Given the description of an element on the screen output the (x, y) to click on. 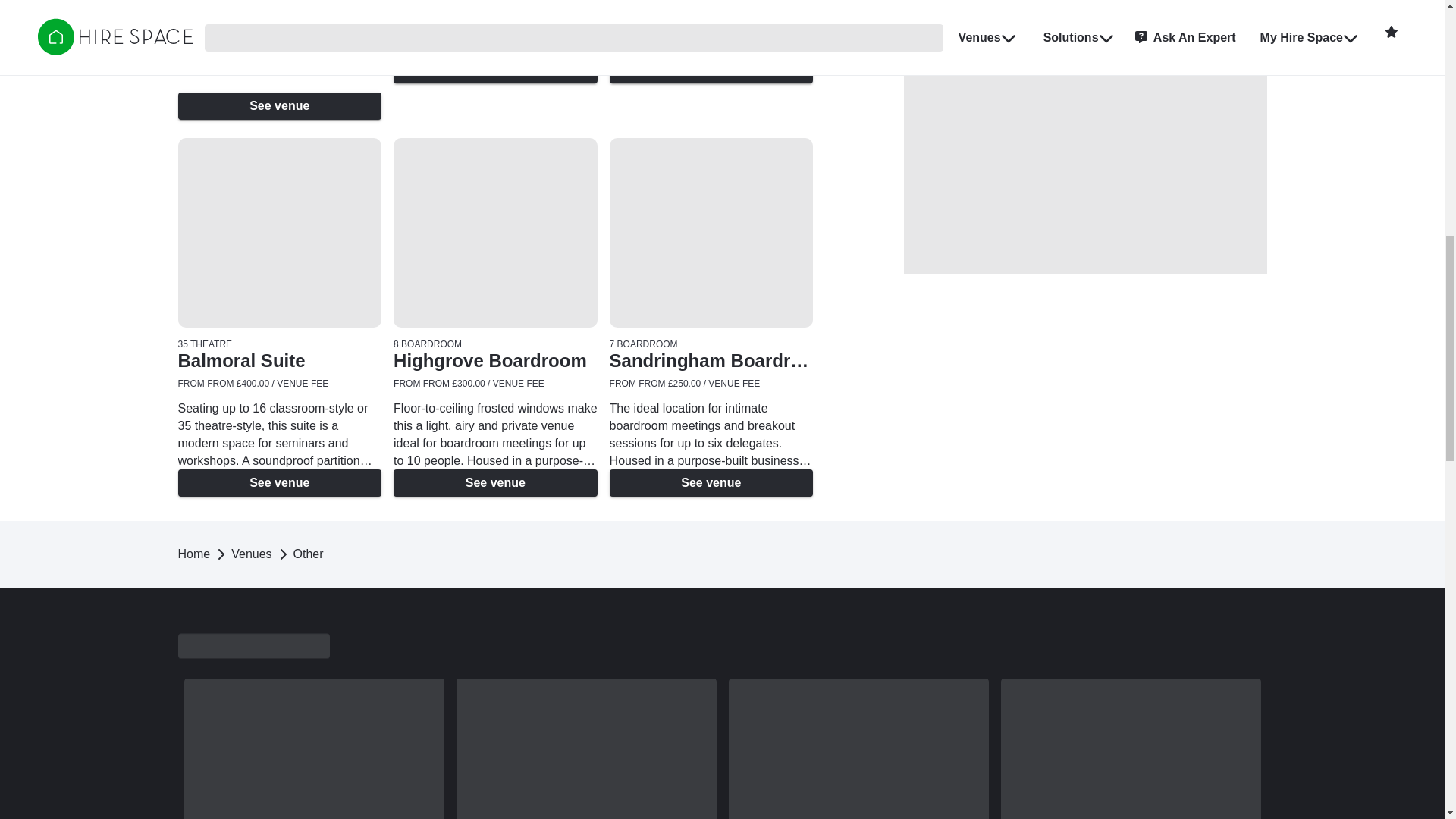
See venue (279, 105)
Venues (250, 553)
Other (308, 553)
Home (193, 553)
